Given the description of an element on the screen output the (x, y) to click on. 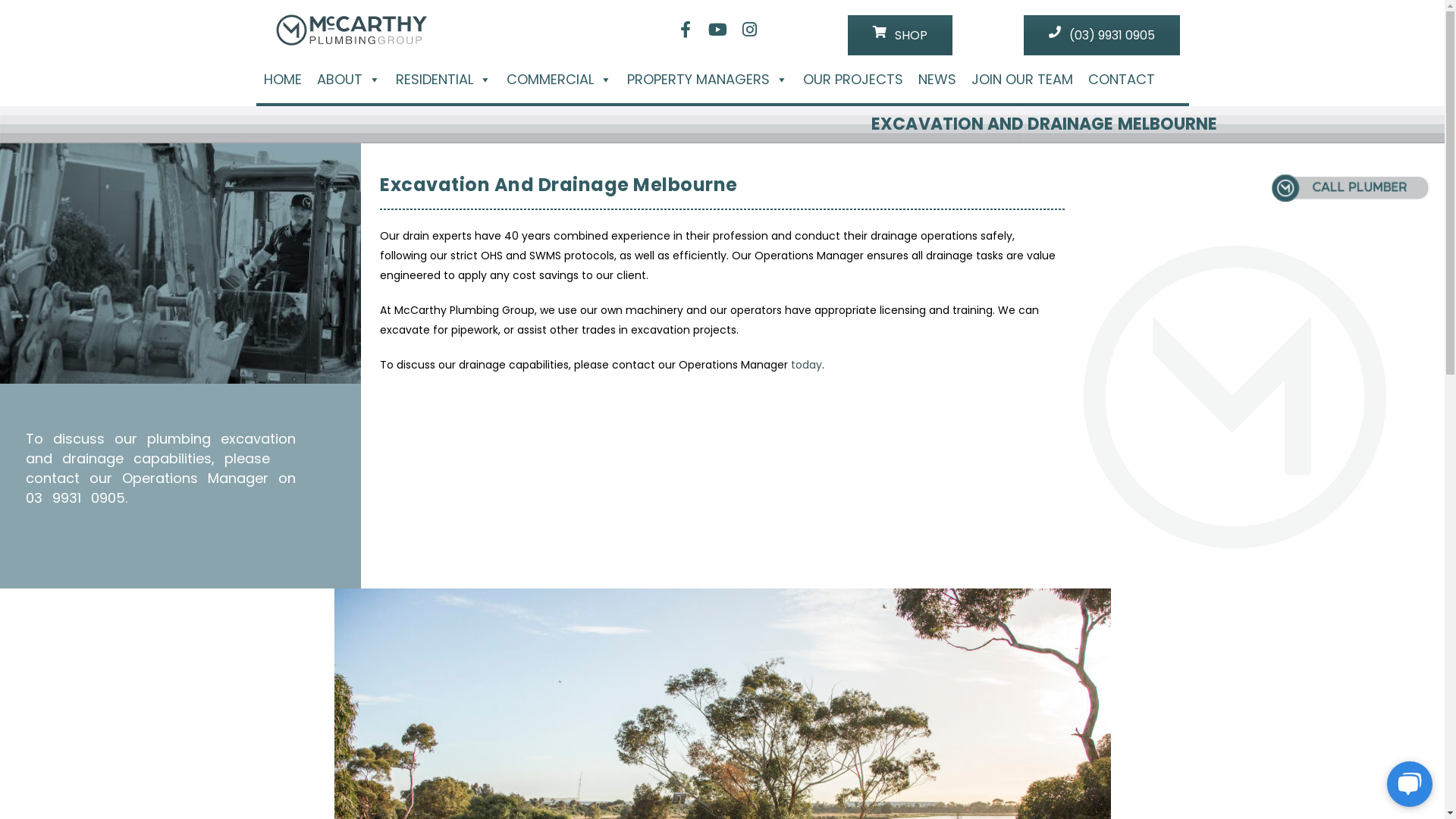
Mambourin Element type: text (1177, 406)
PRIVACY POLICY Element type: text (541, 555)
RESIDENTIAL Element type: text (531, 384)
Mambourin Element type: text (1312, 504)
Altona Meadows Element type: text (1297, 426)
Melton South Element type: text (1070, 485)
Footscray Element type: text (1150, 465)
(03) 9931 0905 Element type: text (46, 555)
Williamstown North Element type: text (1075, 465)
Altona Element type: text (1236, 426)
Brooklyn Element type: text (995, 445)
(03) 9931 0905 Element type: text (1101, 35)
Werribee South Element type: text (1012, 426)
Ravenhall Element type: text (1131, 485)
Caroline Springs Element type: text (1383, 465)
Eynesbury Element type: text (999, 465)
Lara Element type: text (1258, 485)
CONTACT Element type: text (1120, 79)
Tarneit Element type: text (1286, 406)
Melton West Element type: text (1004, 485)
Rockbank Element type: text (1236, 504)
Derrimut Element type: text (1360, 485)
Truganina Element type: text (1333, 406)
Facebook Element type: hover (685, 29)
Seabrook Element type: text (1090, 445)
Williams Landing Element type: text (1095, 426)
Wyndham Vale Element type: text (1178, 426)
Youtube Element type: hover (716, 29)
TERMS & CONDITIONS Element type: text (555, 526)
JOIN OUR TEAM Element type: text (540, 498)
today Element type: text (806, 364)
McCarthy Plumbing Group -  Element type: hover (350, 28)
ABOUT Element type: text (348, 79)
PROPERTY MANAGERS Element type: text (706, 79)
Corio Element type: text (1229, 485)
RESIDENTIAL Element type: text (443, 79)
Laverton Element type: text (995, 406)
Werribee Element type: text (1385, 406)
NEWS Element type: text (517, 470)
Sanctuary Lakes Element type: text (1168, 504)
COMMERCIAL Element type: text (558, 79)
Hoppers Crossing Element type: text (1370, 386)
Taylors Hill Element type: text (1185, 485)
OUR PROJECTS Element type: text (539, 441)
Spotswood Element type: text (1283, 445)
South Kingsville Element type: text (1213, 445)
HOME Element type: text (282, 79)
Instagram Element type: hover (748, 29)
Point Cook Element type: text (1247, 386)
Newport Element type: text (1041, 445)
Laverton North Element type: text (1056, 406)
OUR PROJECTS Element type: text (852, 79)
Seaholme Element type: text (1145, 445)
Altona North Element type: text (1372, 426)
NEWS Element type: text (936, 79)
COMMERCIAL Element type: text (535, 413)
Seddon Element type: text (1057, 504)
Ardeer Element type: text (1016, 504)
Sunshine Element type: text (1239, 465)
Williamstown Element type: text (1348, 445)
JOIN OUR TEAM Element type: text (1021, 79)
Melton Element type: text (1195, 465)
Little River Element type: text (1121, 406)
Deer Park Element type: text (1192, 495)
Manor Lakes Element type: text (1304, 485)
Brooklyn Element type: text (1102, 504)
Sunshine West Element type: text (1301, 465)
SHOP Element type: text (899, 35)
